Given the description of an element on the screen output the (x, y) to click on. 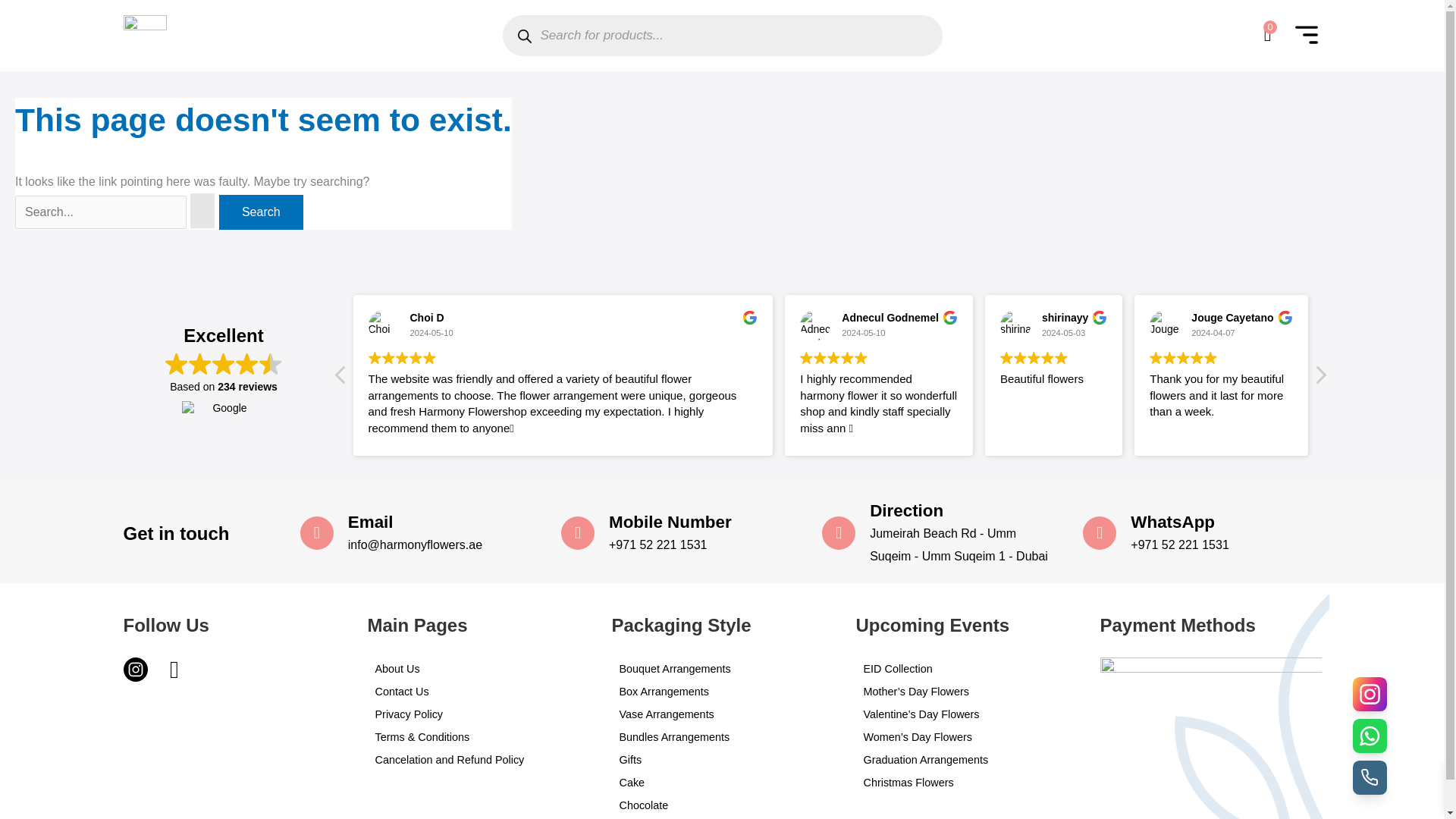
Search (260, 212)
Contact Us (477, 691)
Whatsapp (175, 671)
Search (260, 212)
Search (260, 212)
Email (370, 521)
Chocolate (721, 804)
WhatsApp (1172, 521)
Mobile Number (670, 521)
Cancelation and Refund Policy (477, 759)
Bouquet Arrangements (721, 668)
Gifts (721, 759)
Privacy Policy (477, 713)
Cake (721, 782)
EID Collection (966, 668)
